Given the description of an element on the screen output the (x, y) to click on. 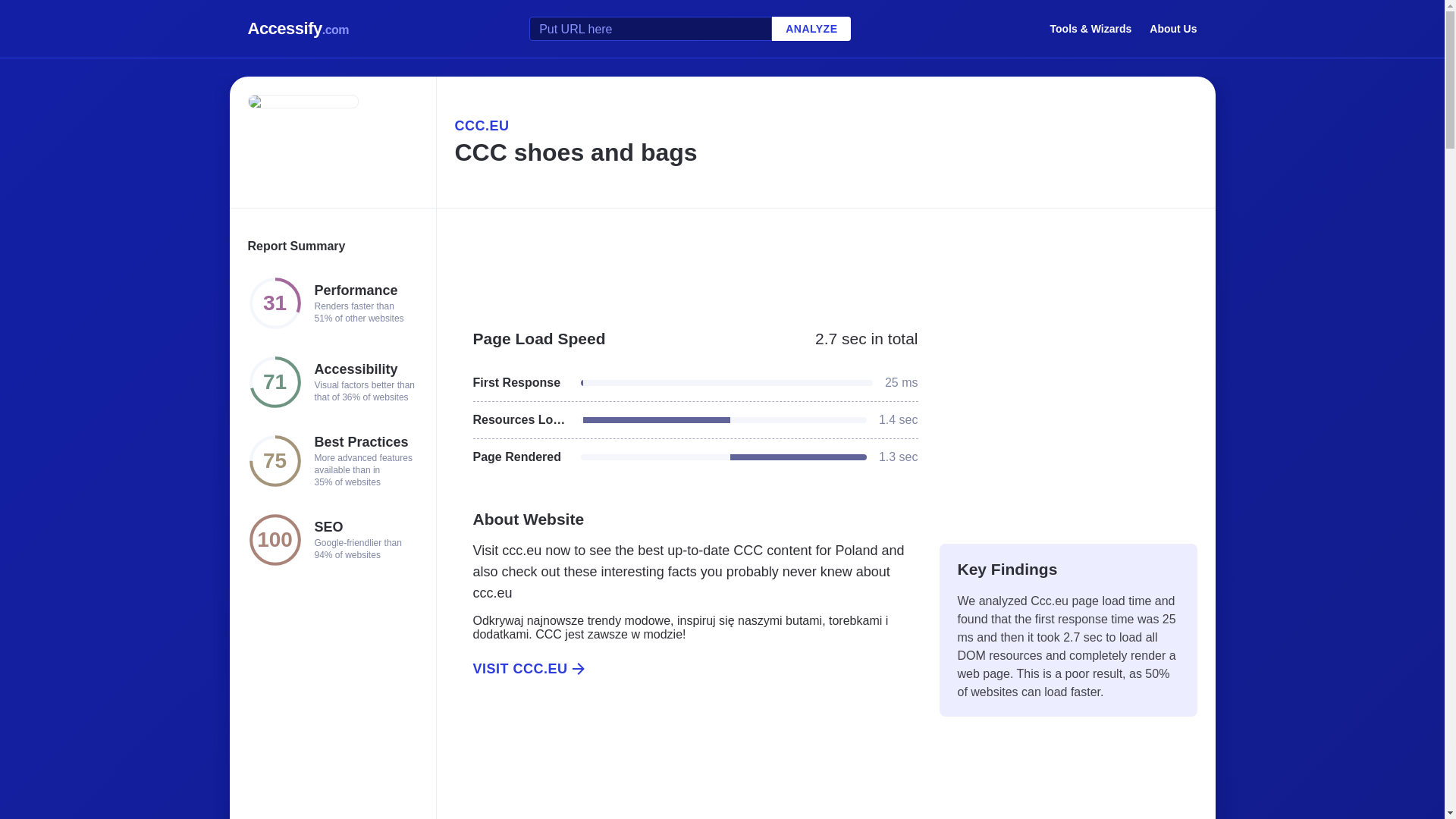
VISIT CCC.EU (686, 669)
CCC.EU (825, 126)
ANALYZE (810, 28)
About Us (1173, 28)
Accessify.com (298, 28)
